Given the description of an element on the screen output the (x, y) to click on. 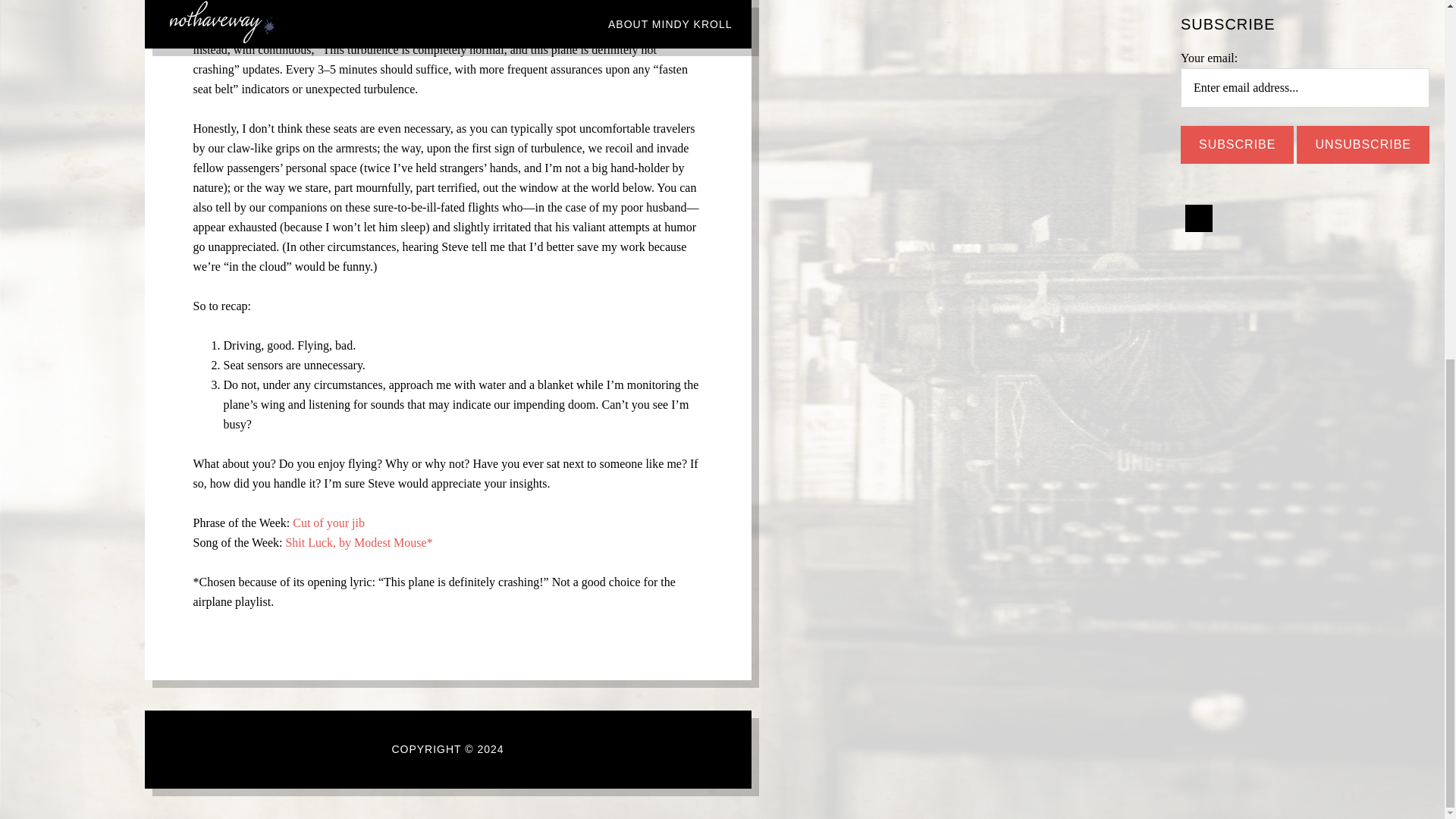
Cut of your jib (328, 522)
